Given the description of an element on the screen output the (x, y) to click on. 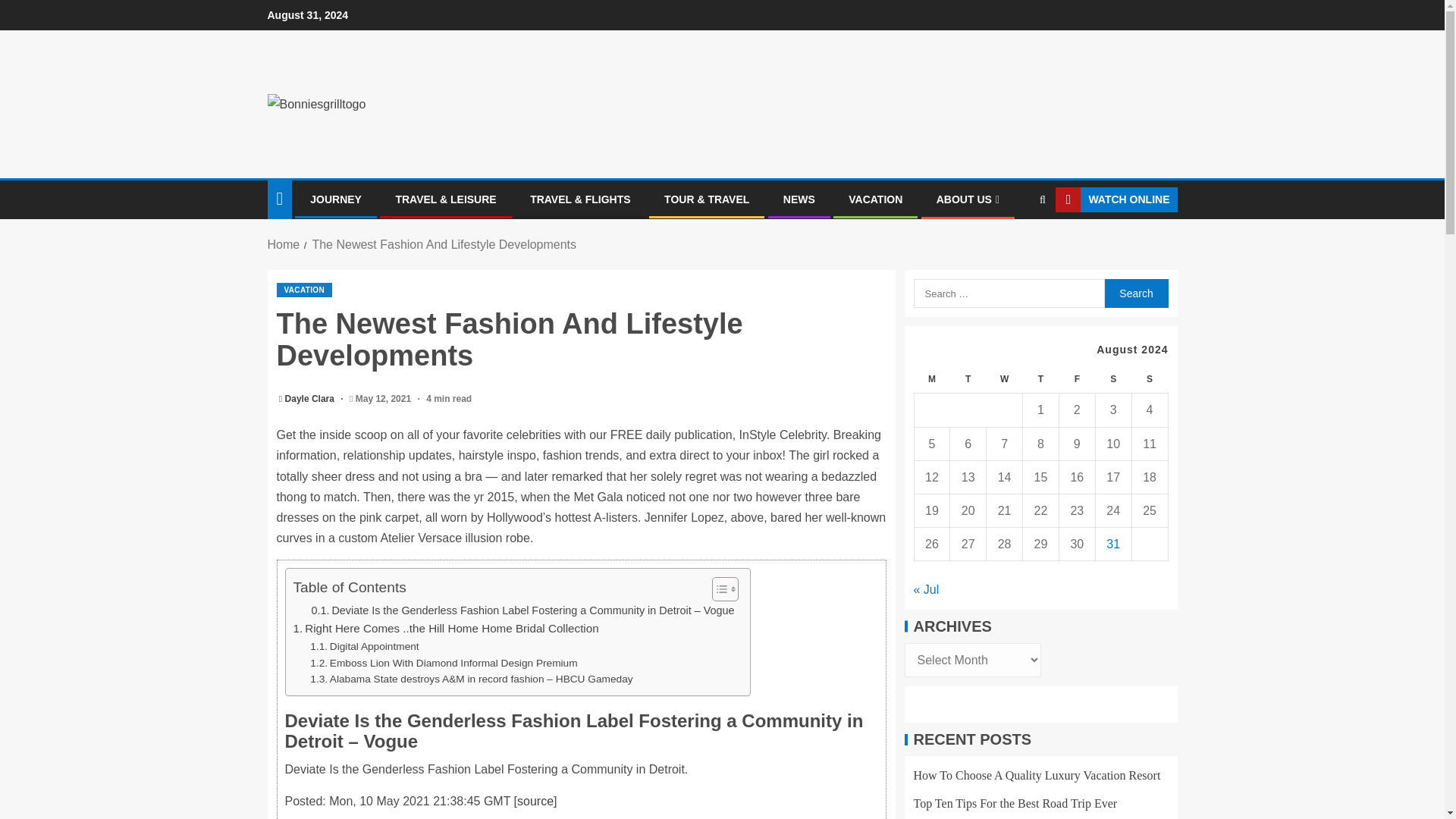
Search (1135, 293)
Monday (932, 379)
Right Here Comes ..the Hill Home Home Bridal Collection (445, 628)
Emboss Lion With Diamond Informal Design Premium (443, 663)
Home (282, 244)
Emboss Lion With Diamond Informal Design Premium (443, 663)
The Newest Fashion And Lifestyle Developments (443, 244)
ABOUT US (967, 199)
Dayle Clara (311, 398)
Friday (1076, 379)
